Given the description of an element on the screen output the (x, y) to click on. 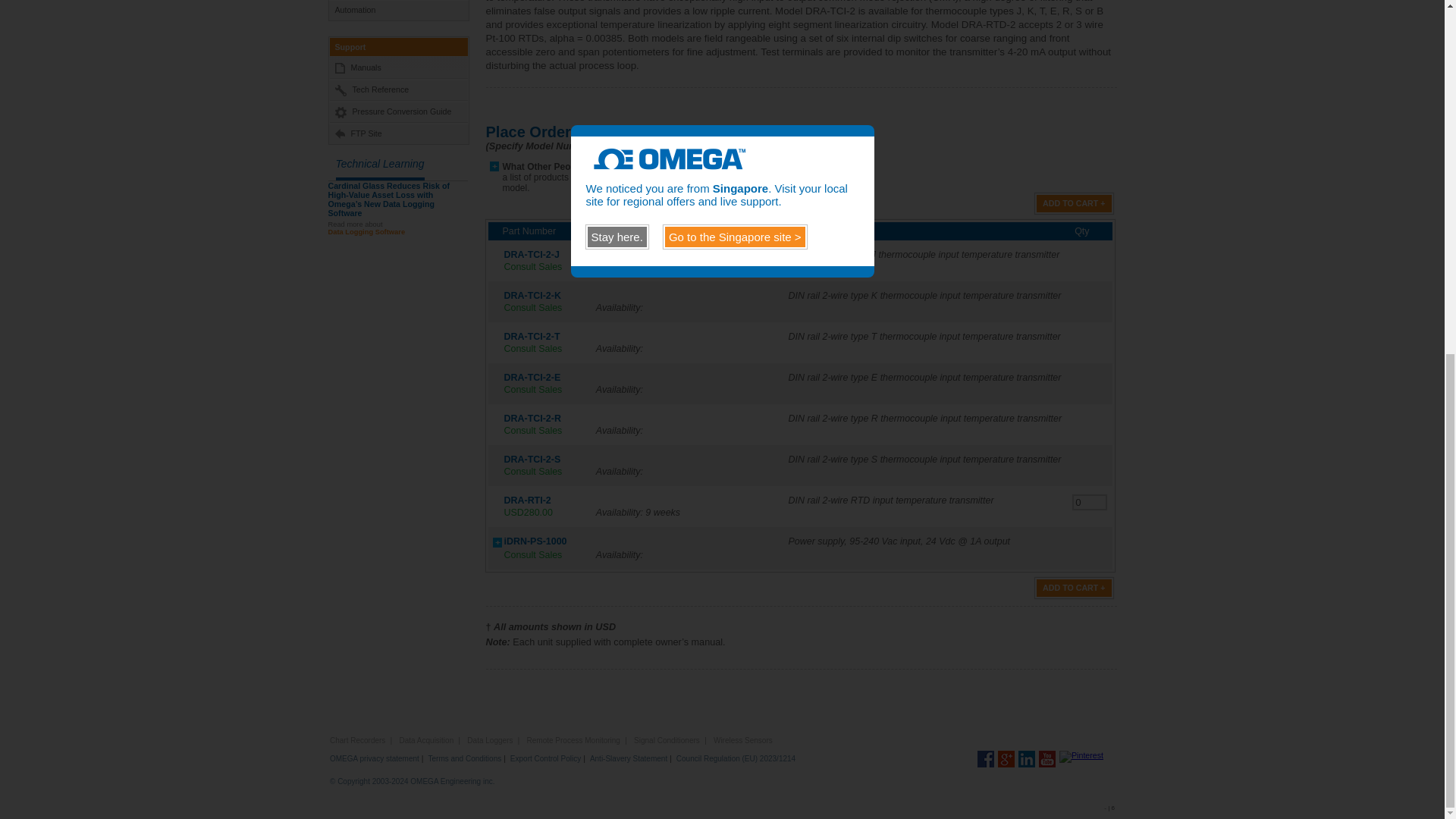
0 (1089, 502)
